Given the description of an element on the screen output the (x, y) to click on. 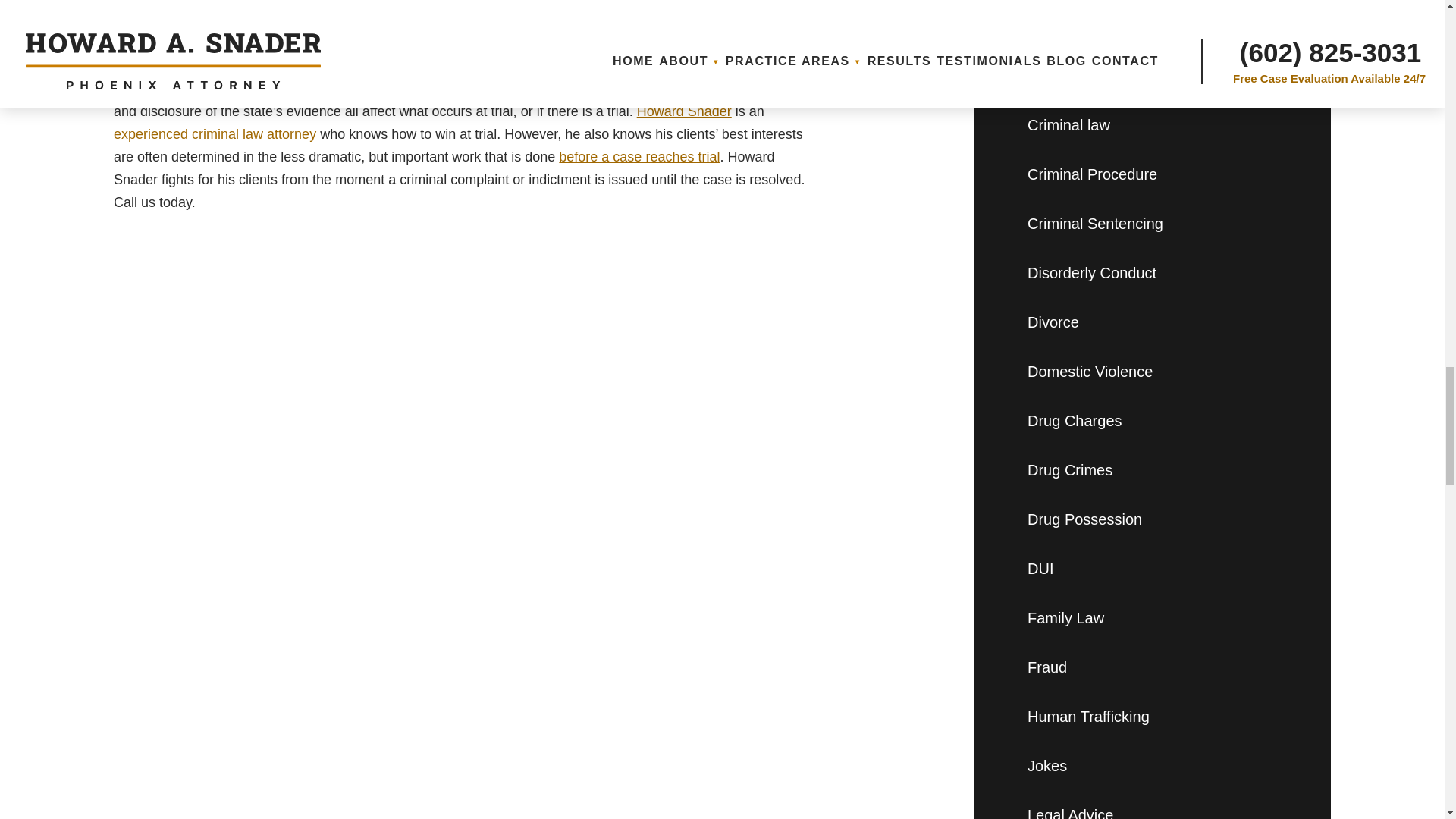
prohibit inadmissible evidence (530, 88)
Howard Snader (684, 111)
